Given the description of an element on the screen output the (x, y) to click on. 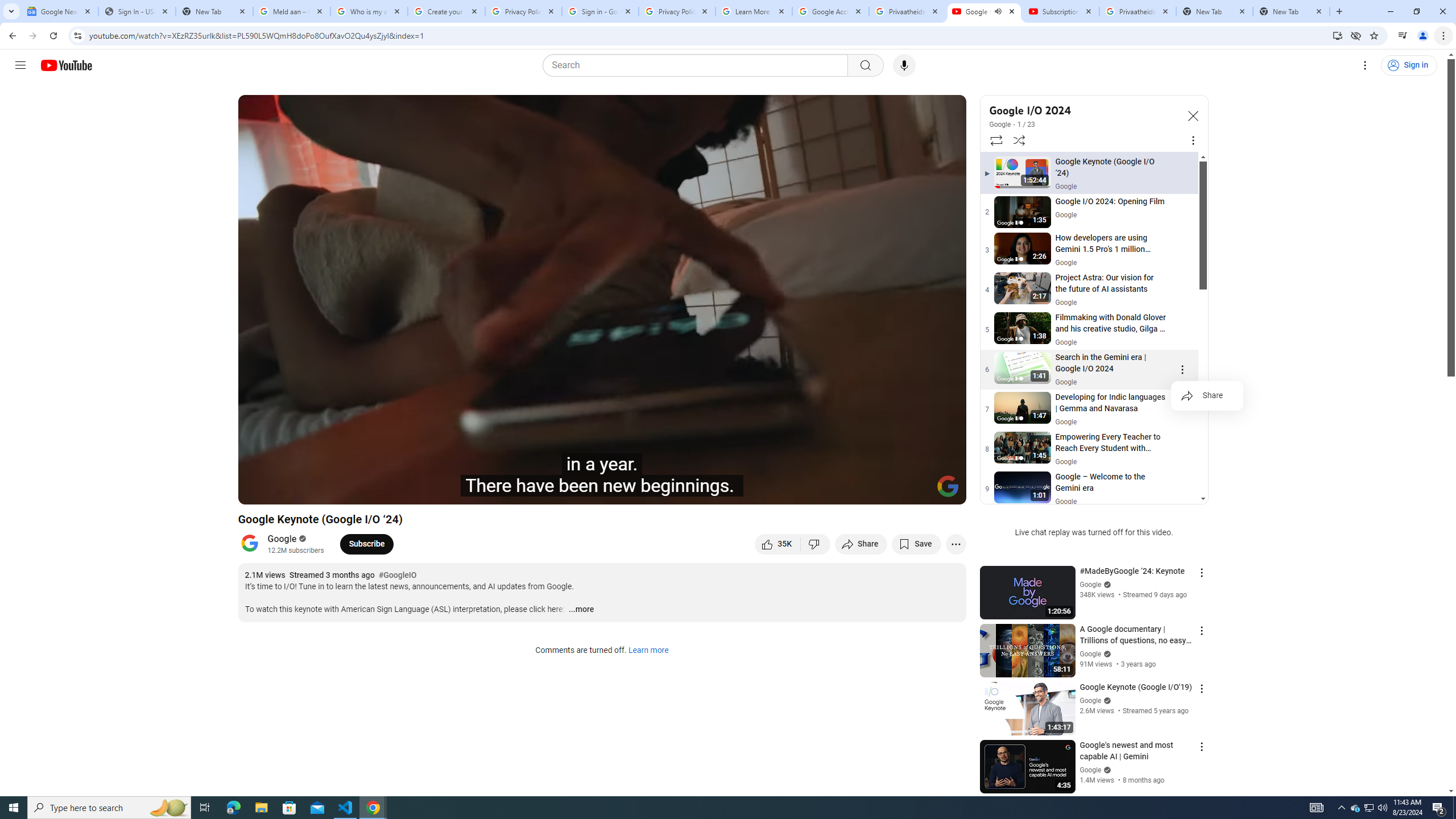
#GoogleIO (397, 575)
Save to playlist (915, 543)
Create your Google Account (446, 11)
Subscriptions - YouTube (1061, 11)
Learn more (647, 650)
Dislike this video (815, 543)
Share (1206, 395)
Search with your voice (903, 65)
